Given the description of an element on the screen output the (x, y) to click on. 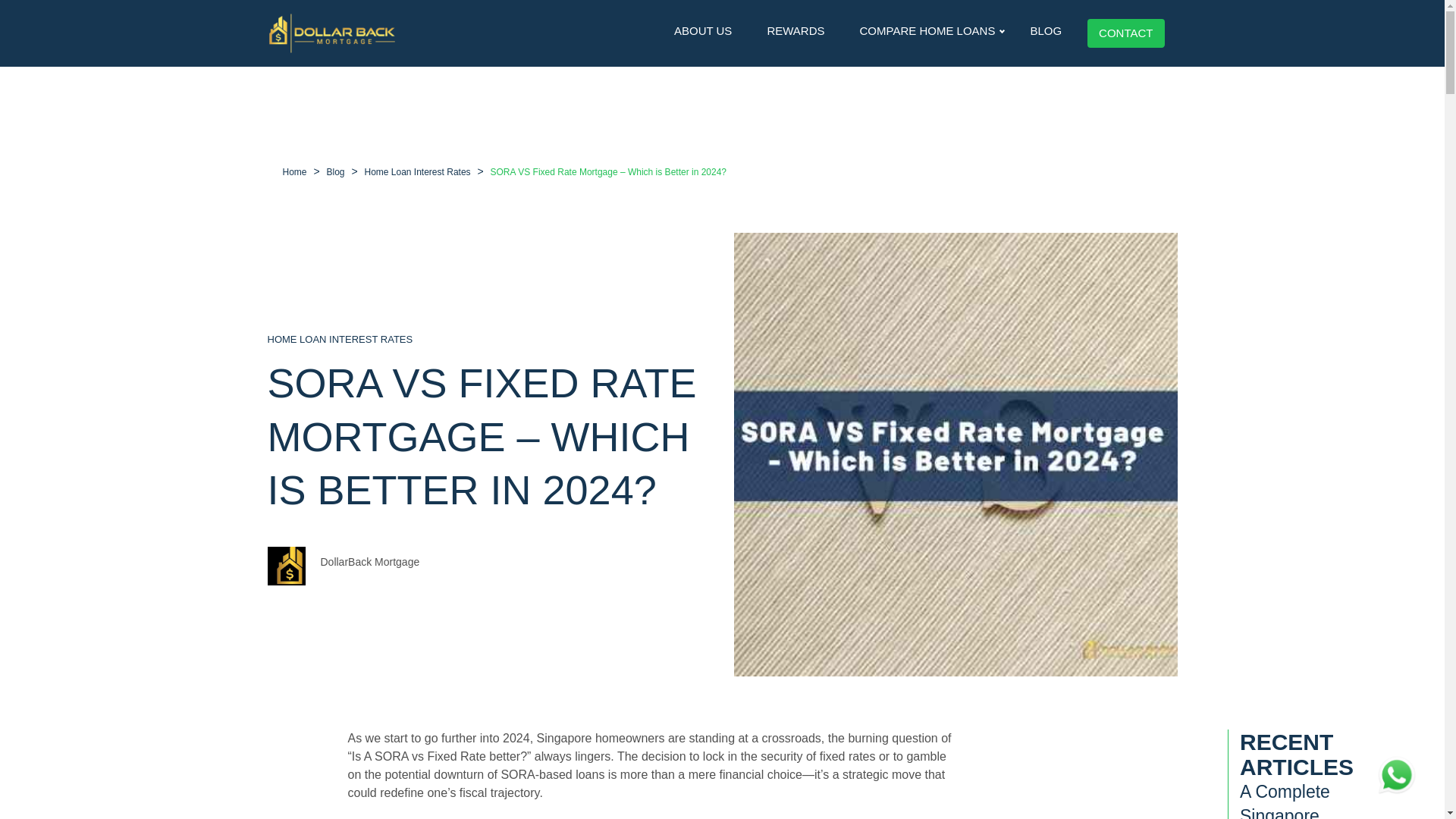
Blog (334, 172)
Home (293, 172)
ABOUT US (703, 30)
Home Loan Interest Rates (417, 172)
COMPARE HOME LOANS (927, 30)
CONTACT (1125, 32)
REWARDS (794, 30)
BLOG (1045, 30)
